Given the description of an element on the screen output the (x, y) to click on. 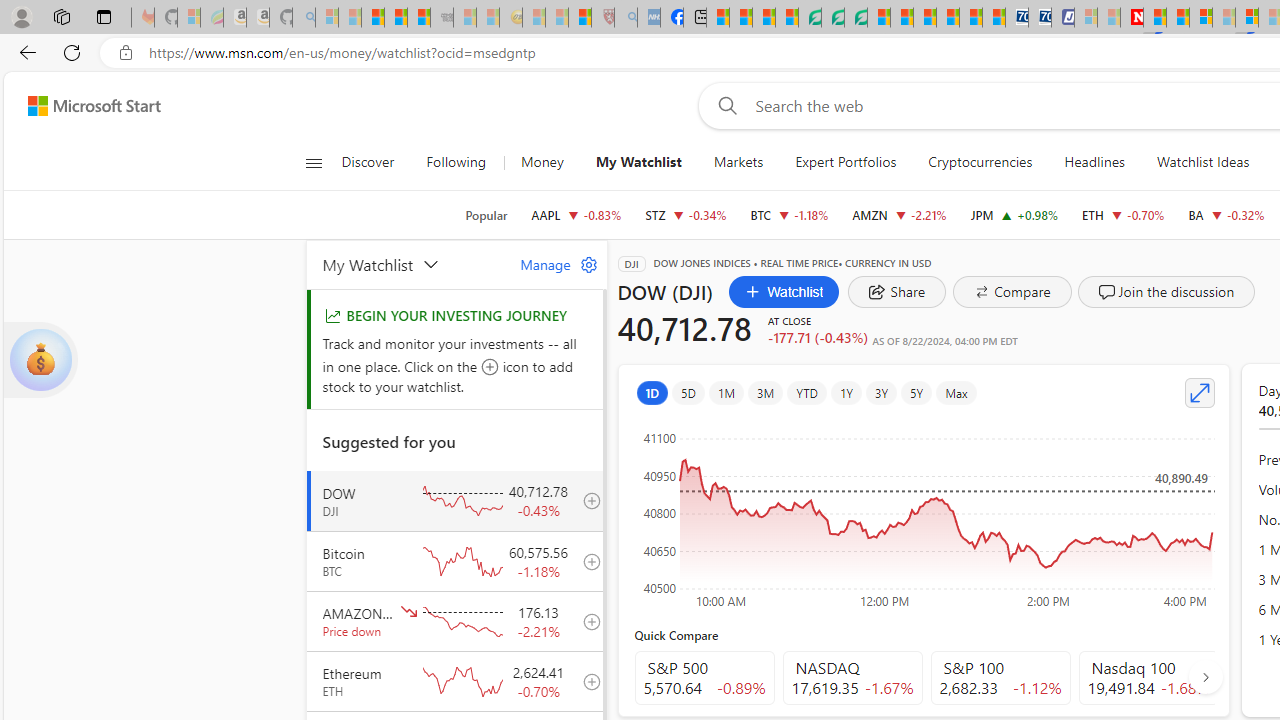
3Y (882, 392)
Web search (724, 105)
YTD (806, 392)
Compare (1012, 291)
1M (725, 392)
Money (541, 162)
Markets (738, 162)
Markets (738, 162)
Watchlist Ideas (1202, 162)
